Given the description of an element on the screen output the (x, y) to click on. 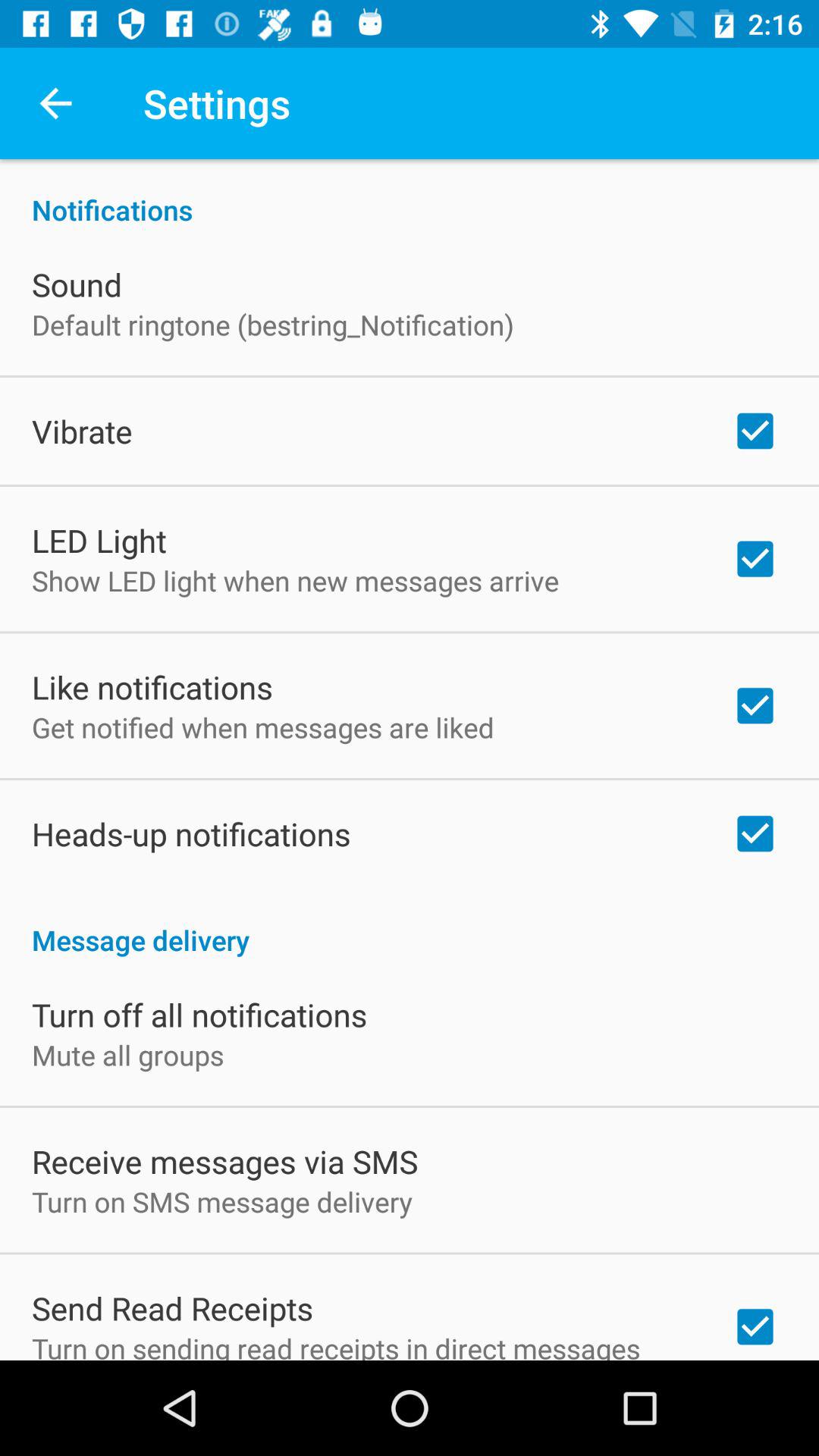
swipe until turn off all item (199, 1014)
